Given the description of an element on the screen output the (x, y) to click on. 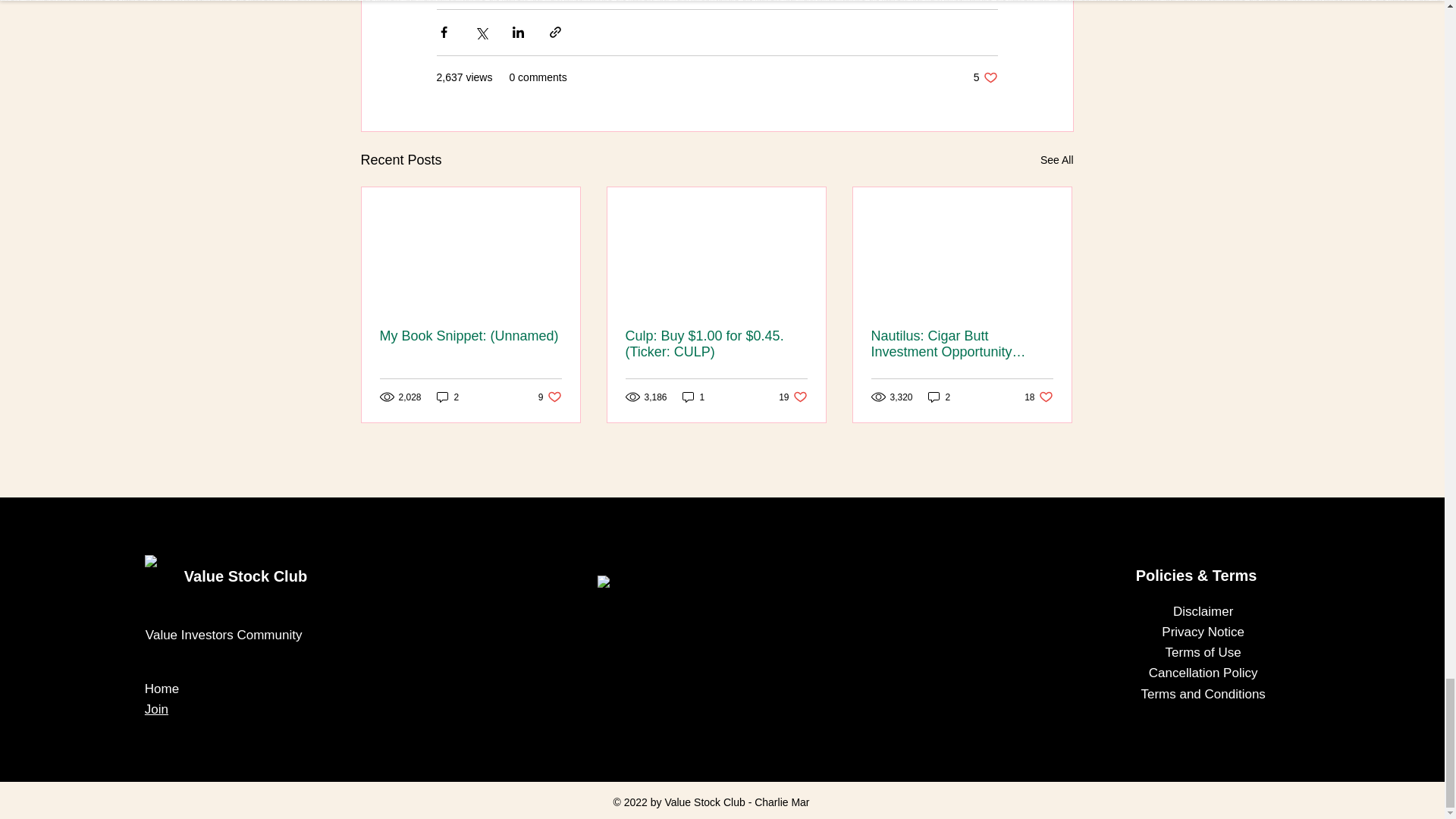
Terms and Conditions (1202, 694)
Home (161, 688)
Terms of Use (1203, 652)
Disclaimer (1203, 611)
Cancellation Policy (1202, 672)
Join (1038, 396)
Privacy Notice (156, 708)
See All (792, 396)
Value Stock Club (1202, 631)
2 (1057, 160)
1 (245, 576)
